Given the description of an element on the screen output the (x, y) to click on. 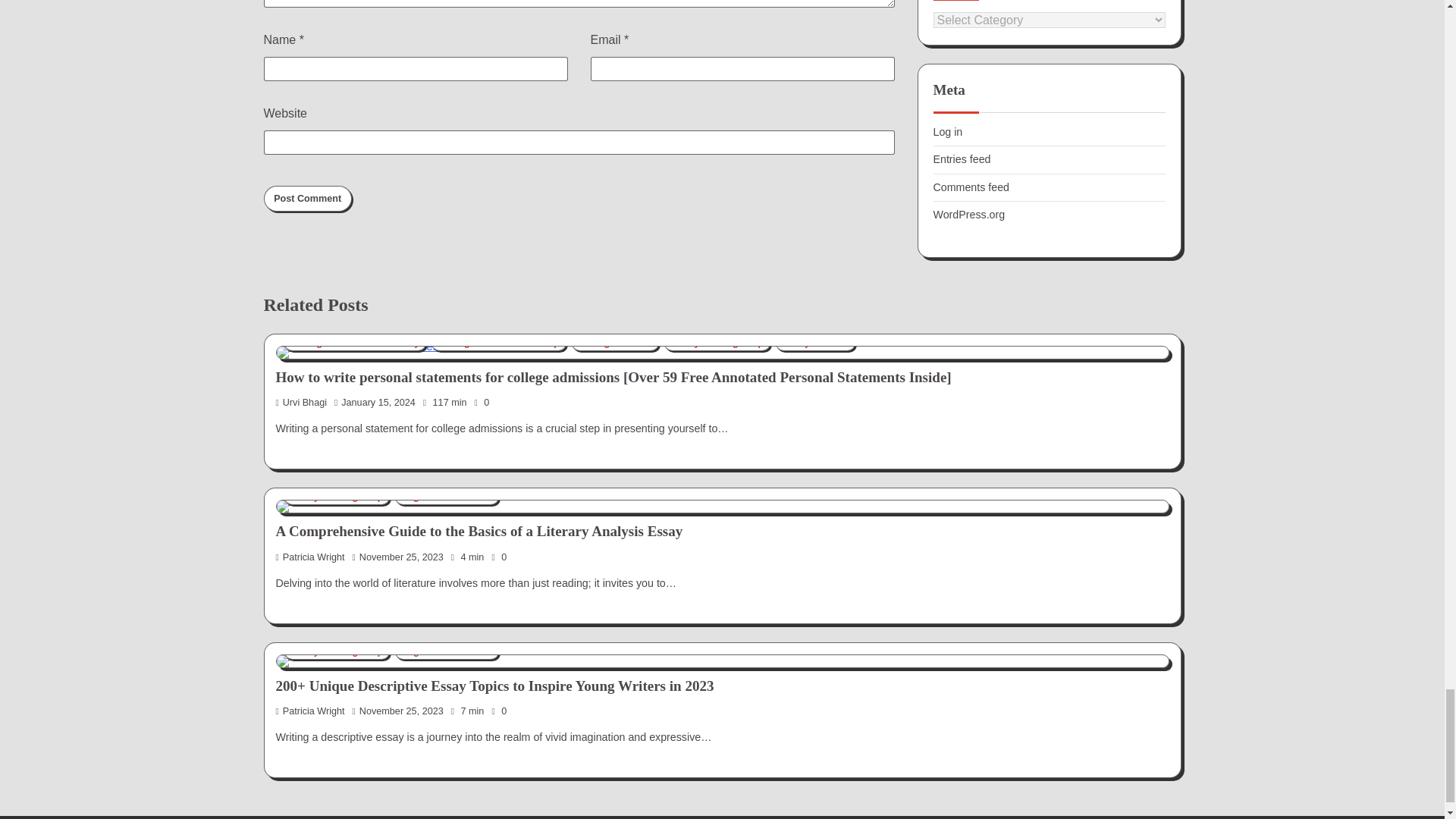
Post Comment (307, 198)
College Admission Help (498, 342)
study abroad (816, 342)
College Bound (615, 342)
Post Comment (307, 198)
essay writing help (716, 342)
College Admission Essay (354, 342)
